Given the description of an element on the screen output the (x, y) to click on. 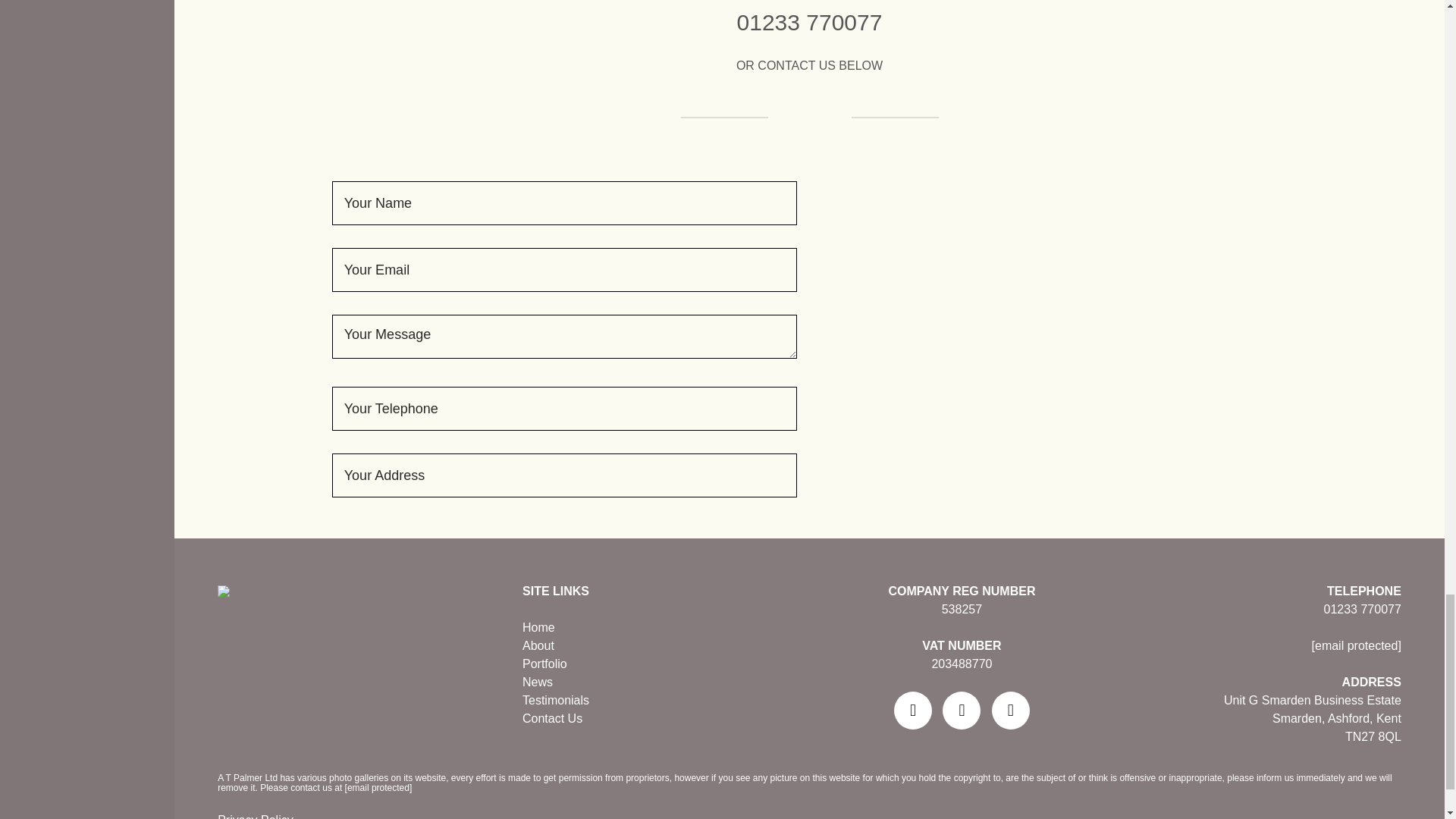
Portfolio (544, 663)
01233 770077 (1361, 608)
News (537, 681)
Testimonials (555, 699)
About (538, 645)
Home (538, 626)
Contact Us (552, 717)
